Given the description of an element on the screen output the (x, y) to click on. 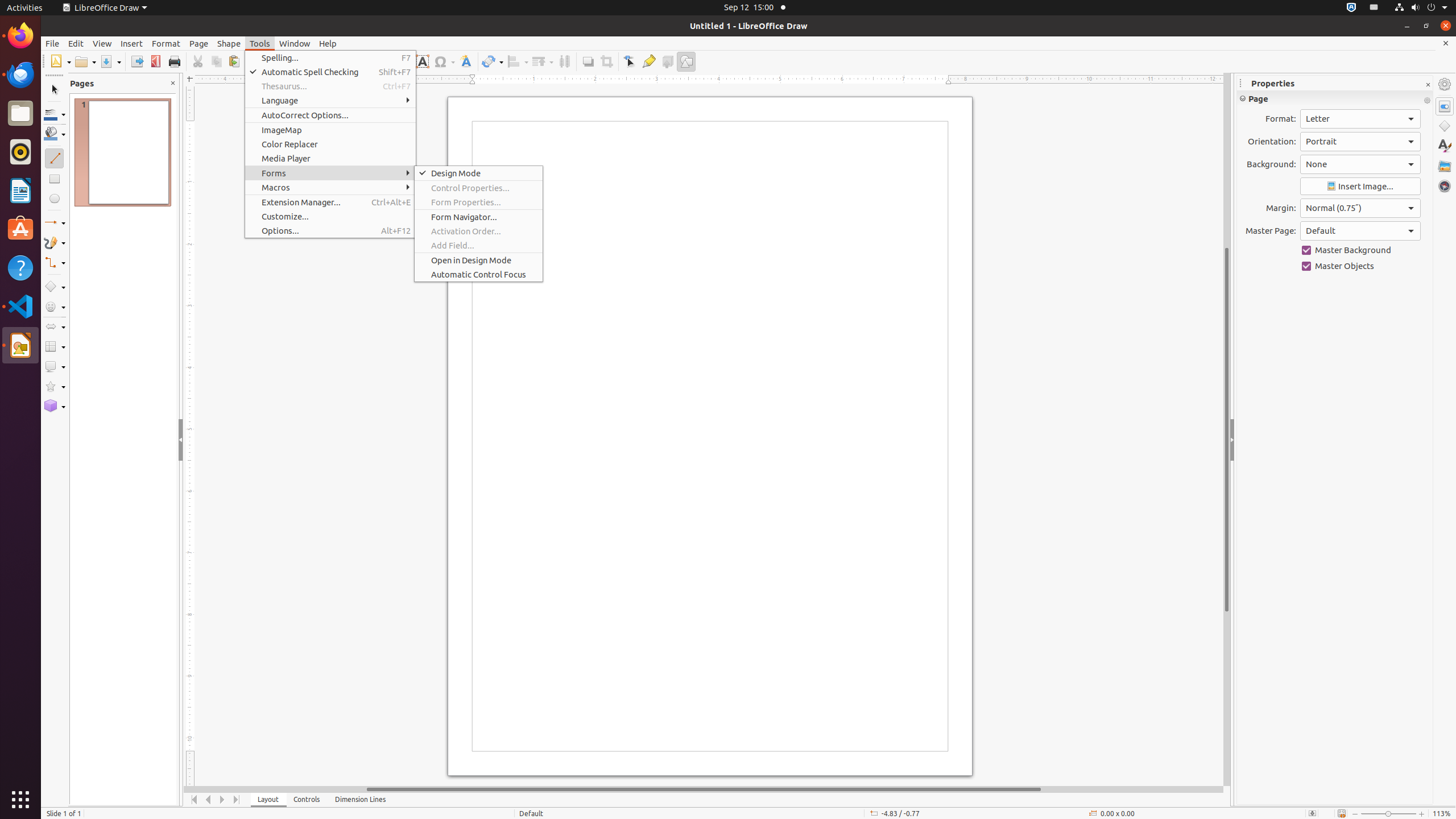
Crop Element type: push-button (606, 61)
Cut Element type: push-button (197, 61)
Move Right Element type: push-button (222, 799)
